Given the description of an element on the screen output the (x, y) to click on. 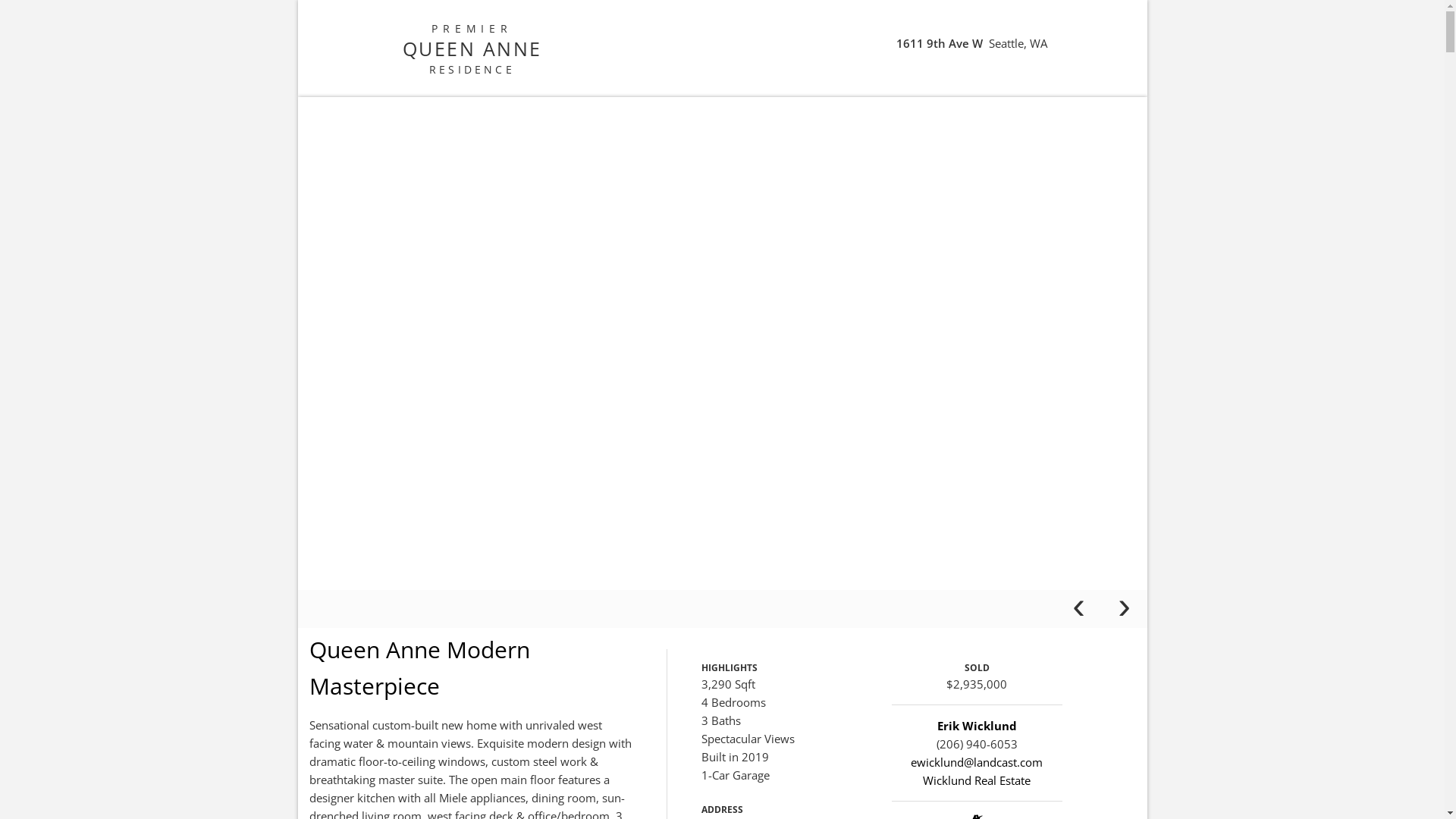
Erik Wicklund Element type: text (976, 725)
Wicklund Real Estate Element type: text (976, 779)
ewicklund@landcast.com Element type: text (976, 761)
